Given the description of an element on the screen output the (x, y) to click on. 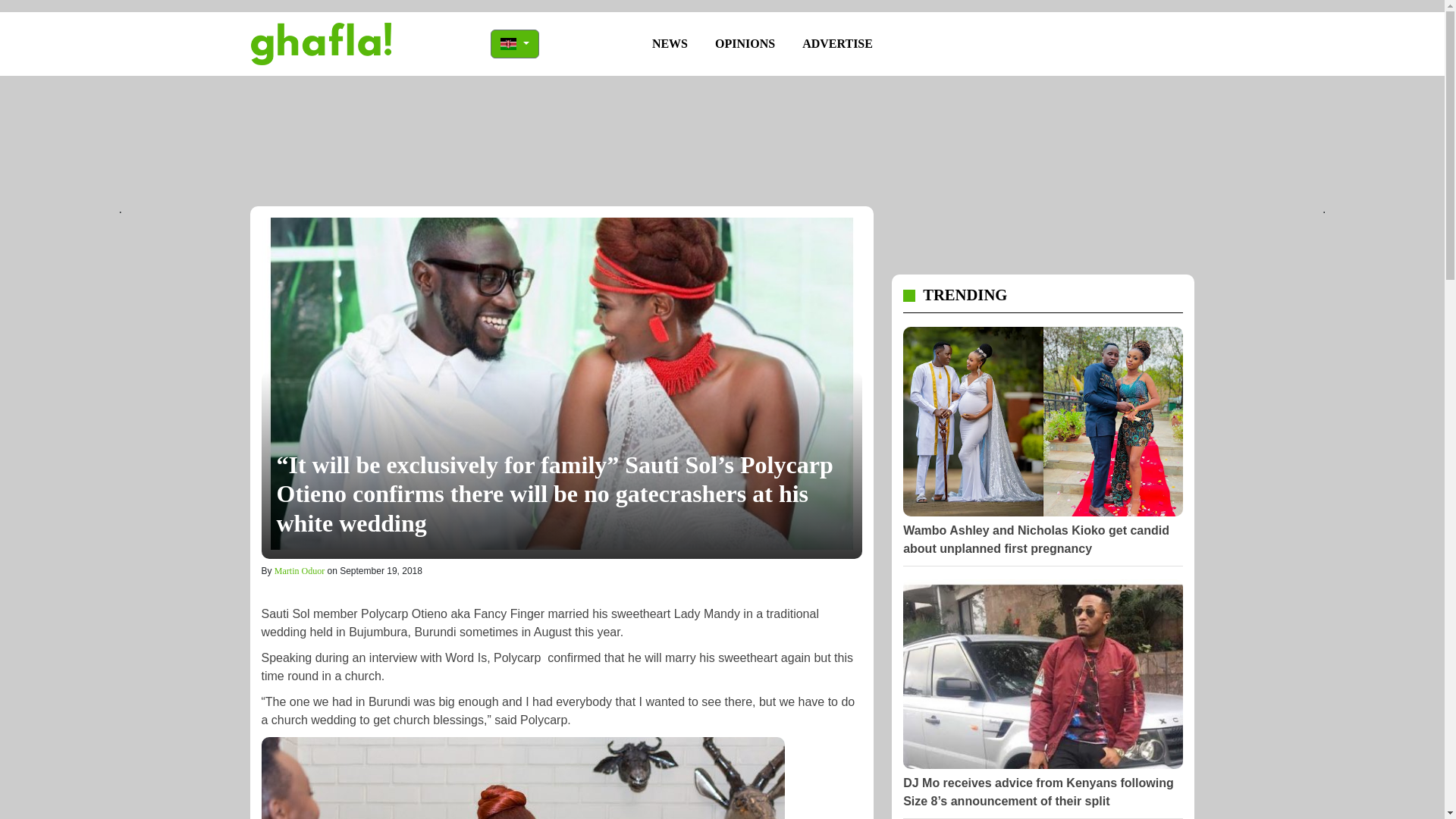
Martin Oduor (299, 570)
OPINIONS (744, 43)
NEWS (670, 43)
ADVERTISE (837, 43)
